Given the description of an element on the screen output the (x, y) to click on. 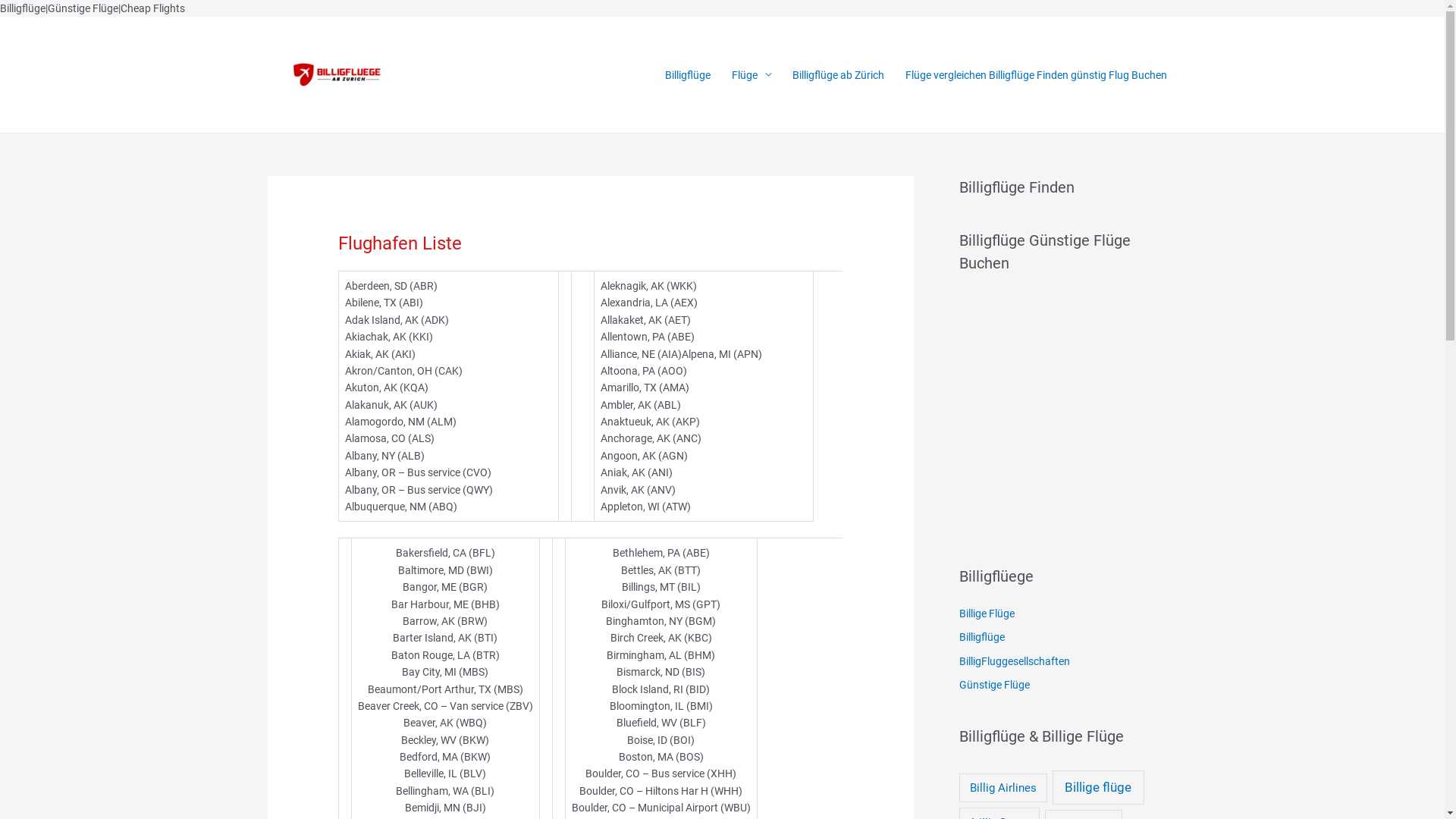
Billig Airlines Element type: text (1002, 788)
BilligFluggesellschaften Element type: text (1013, 661)
